Given the description of an element on the screen output the (x, y) to click on. 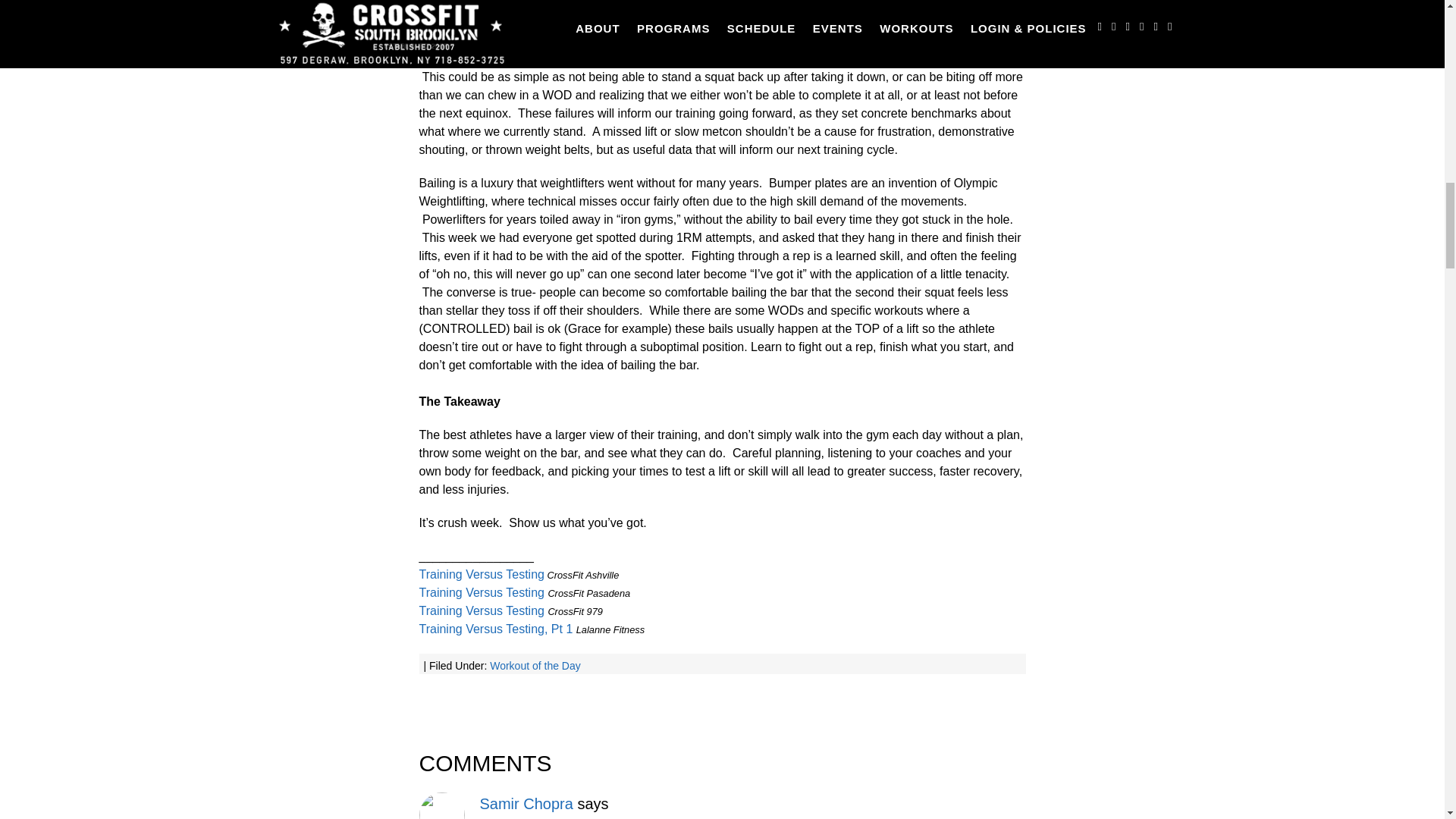
Training Versus Testing (481, 610)
Training Versus Testing, Pt 1 (495, 628)
Training Versus Testing (481, 592)
Samir Chopra (525, 803)
Training Versus Testing (481, 574)
Workout of the Day (534, 665)
